Given the description of an element on the screen output the (x, y) to click on. 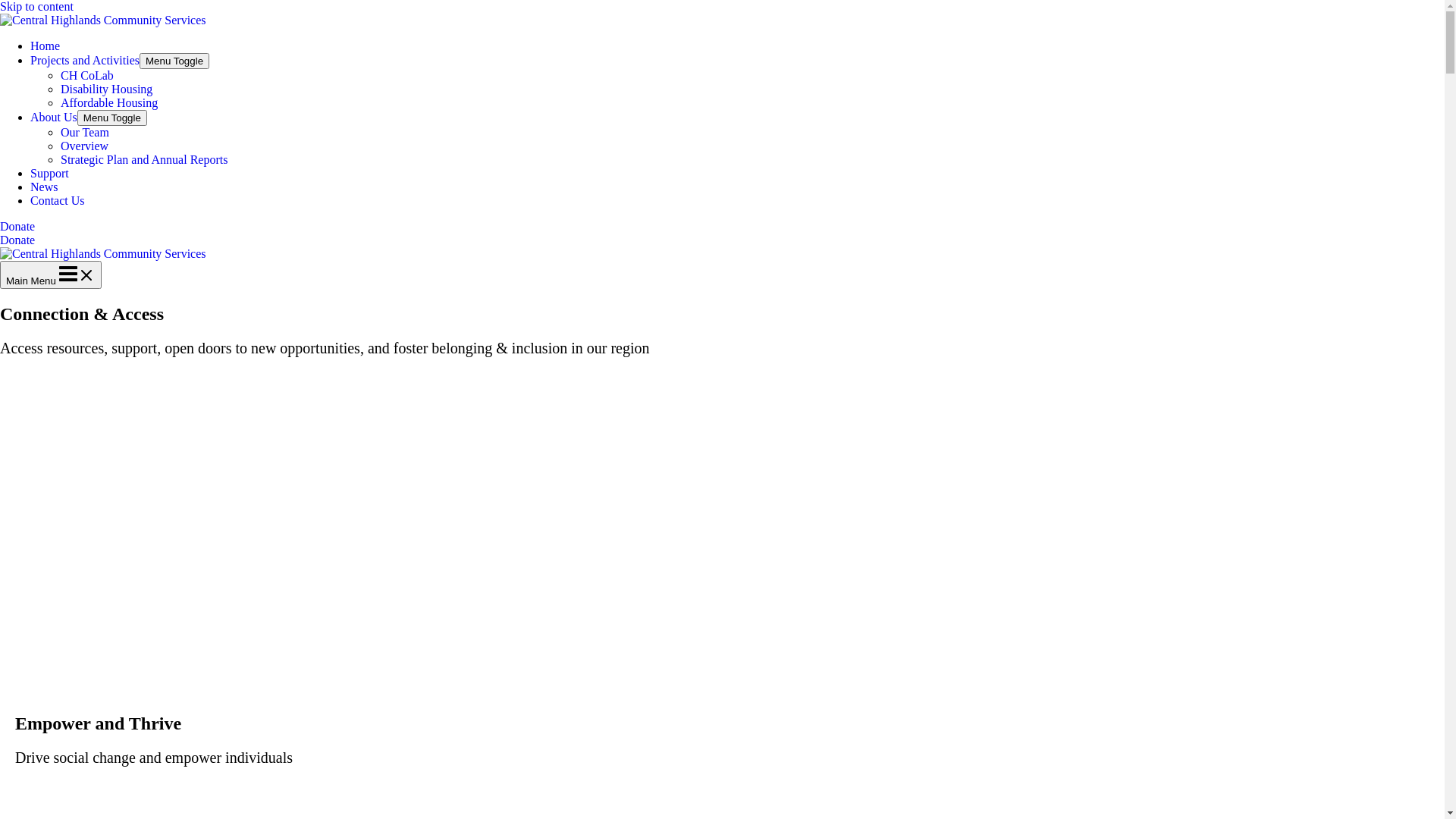
Skip to content Element type: text (36, 6)
Menu Toggle Element type: text (112, 117)
Overview Element type: text (84, 145)
Contact Us Element type: text (57, 200)
About Us Element type: text (53, 116)
Support Element type: text (49, 172)
Donate Element type: text (722, 232)
Home Element type: text (44, 45)
CH CoLab Element type: text (86, 75)
Our Team Element type: text (84, 131)
Main Menu Element type: text (50, 274)
Strategic Plan and Annual Reports Element type: text (143, 159)
Projects and Activities Element type: text (84, 59)
News Element type: text (43, 186)
Donate Element type: text (17, 239)
Disability Housing Element type: text (106, 88)
Affordable Housing Element type: text (108, 102)
Menu Toggle Element type: text (174, 61)
